Given the description of an element on the screen output the (x, y) to click on. 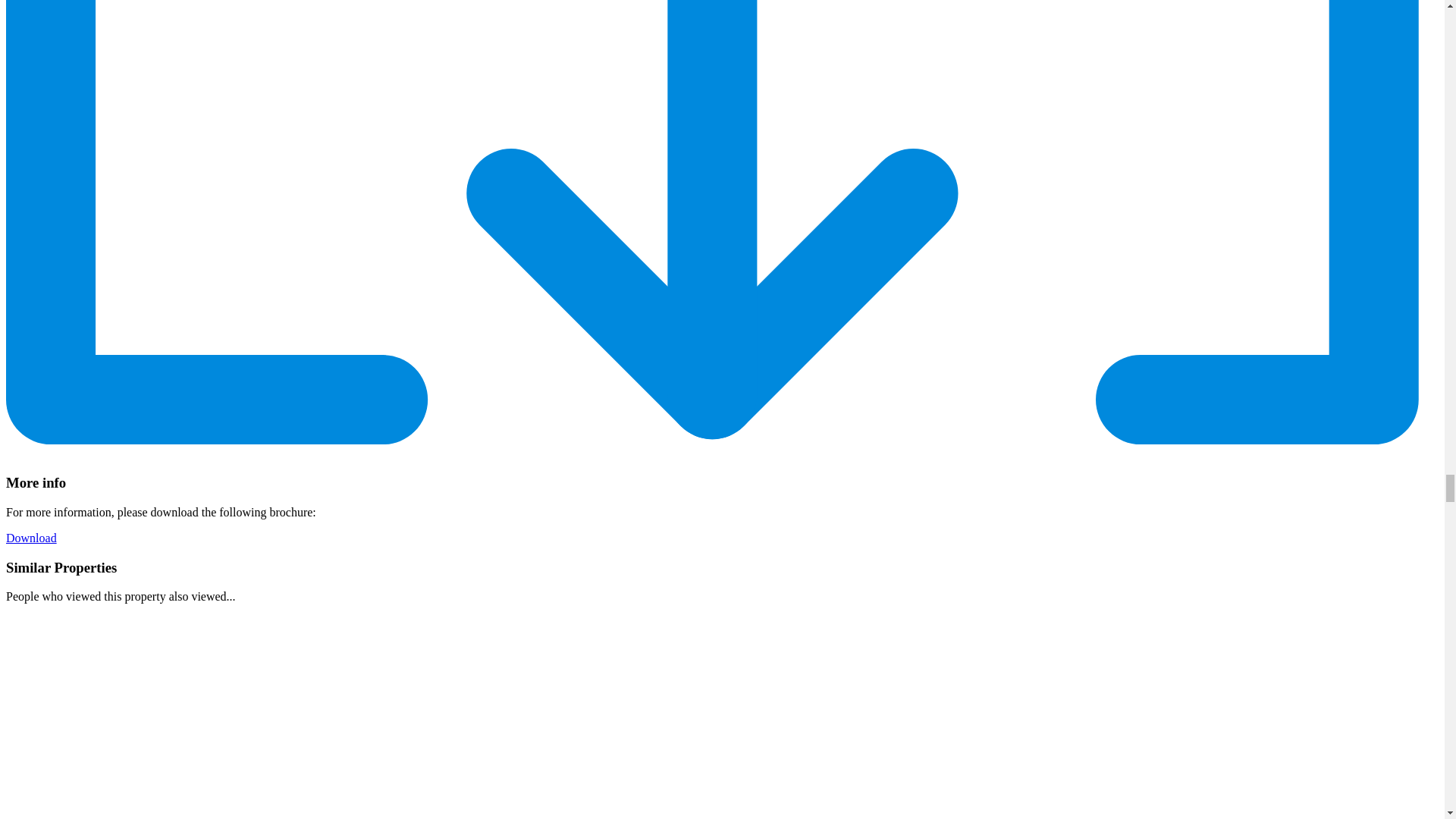
Download (30, 537)
